Given the description of an element on the screen output the (x, y) to click on. 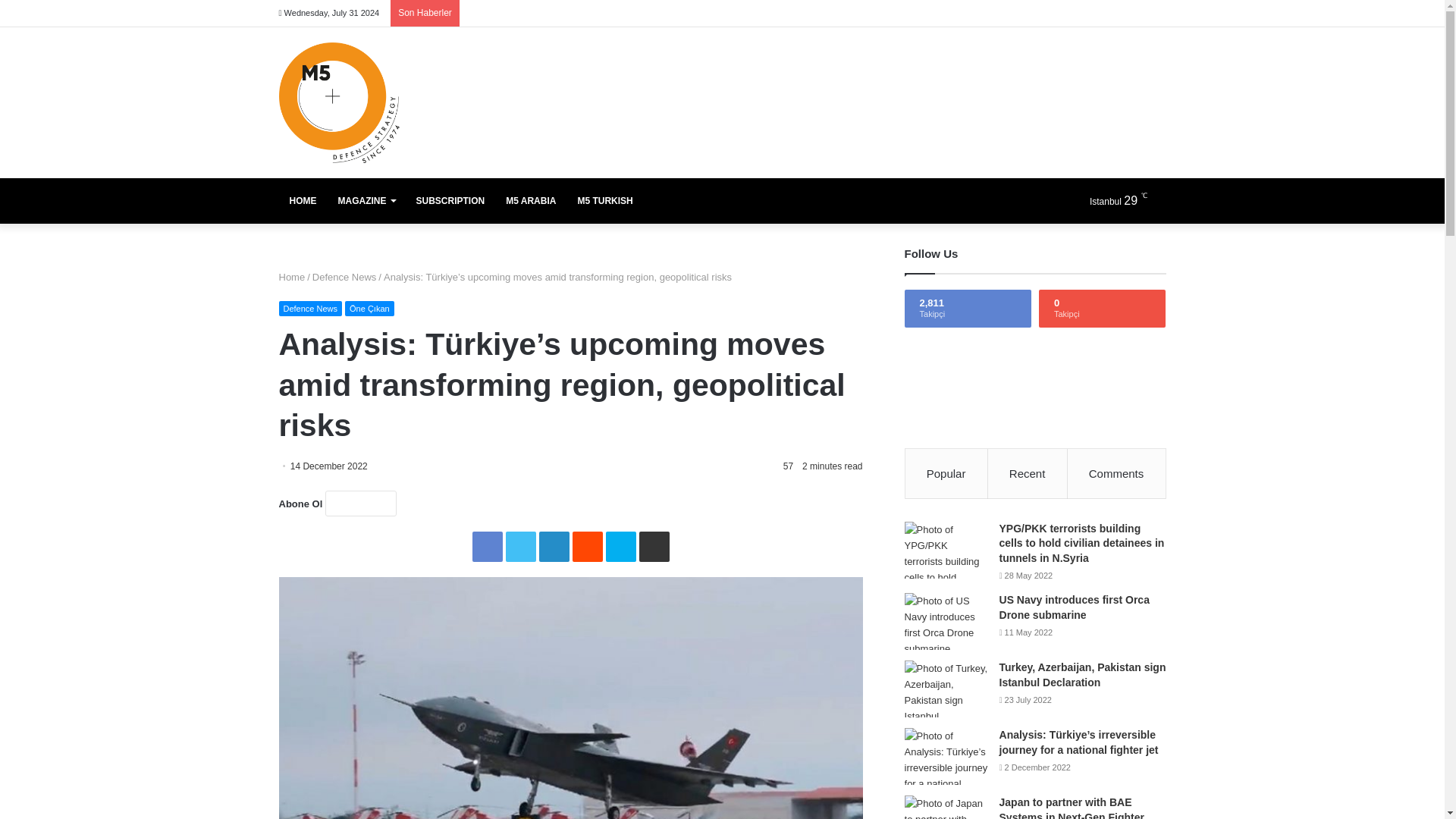
M5 TURKISH (604, 200)
MAGAZINE (366, 200)
Scattered Clouds (1125, 199)
Share via Email (653, 546)
SUBSCRIPTION (449, 200)
Skype (619, 546)
HOME (303, 200)
Reddit (587, 546)
Home (292, 276)
M5 ARABIA (530, 200)
LinkedIn (553, 546)
Facebook (486, 546)
Abone Ol (360, 503)
Defence News (345, 276)
M5 Dergi (338, 102)
